Given the description of an element on the screen output the (x, y) to click on. 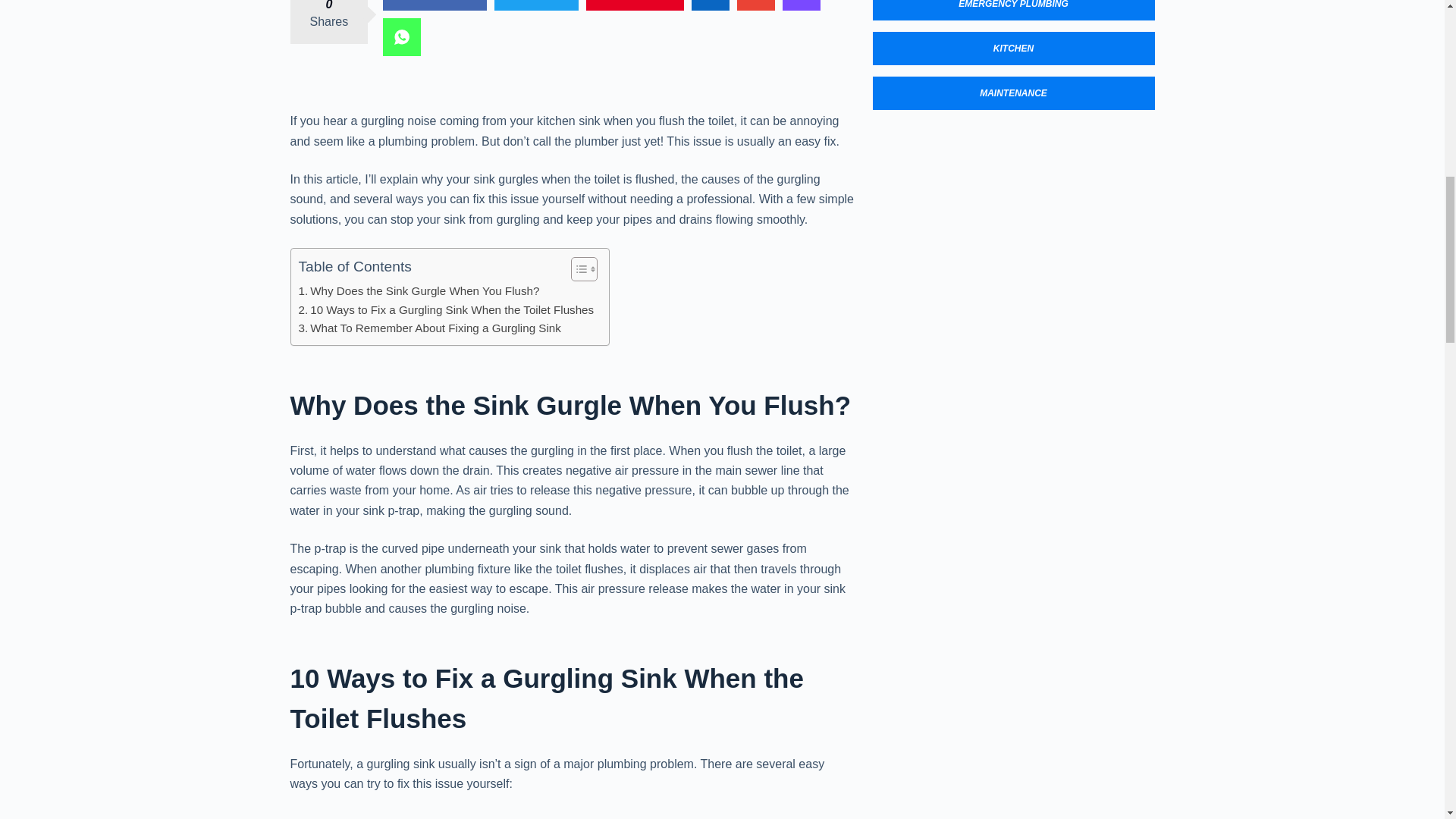
10 Ways to Fix a Gurgling Sink When the Toilet Flushes (446, 309)
Twitter (536, 5)
Pinterest (635, 5)
Why Does the Sink Gurgle When You Flush? (419, 290)
Facebook (434, 5)
10 Ways to Fix a Gurgling Sink When the Toilet Flushes (446, 309)
What To Remember About Fixing a Gurgling Sink (429, 328)
What To Remember About Fixing a Gurgling Sink (429, 328)
Why Does the Sink Gurgle When You Flush? (419, 290)
